Given the description of an element on the screen output the (x, y) to click on. 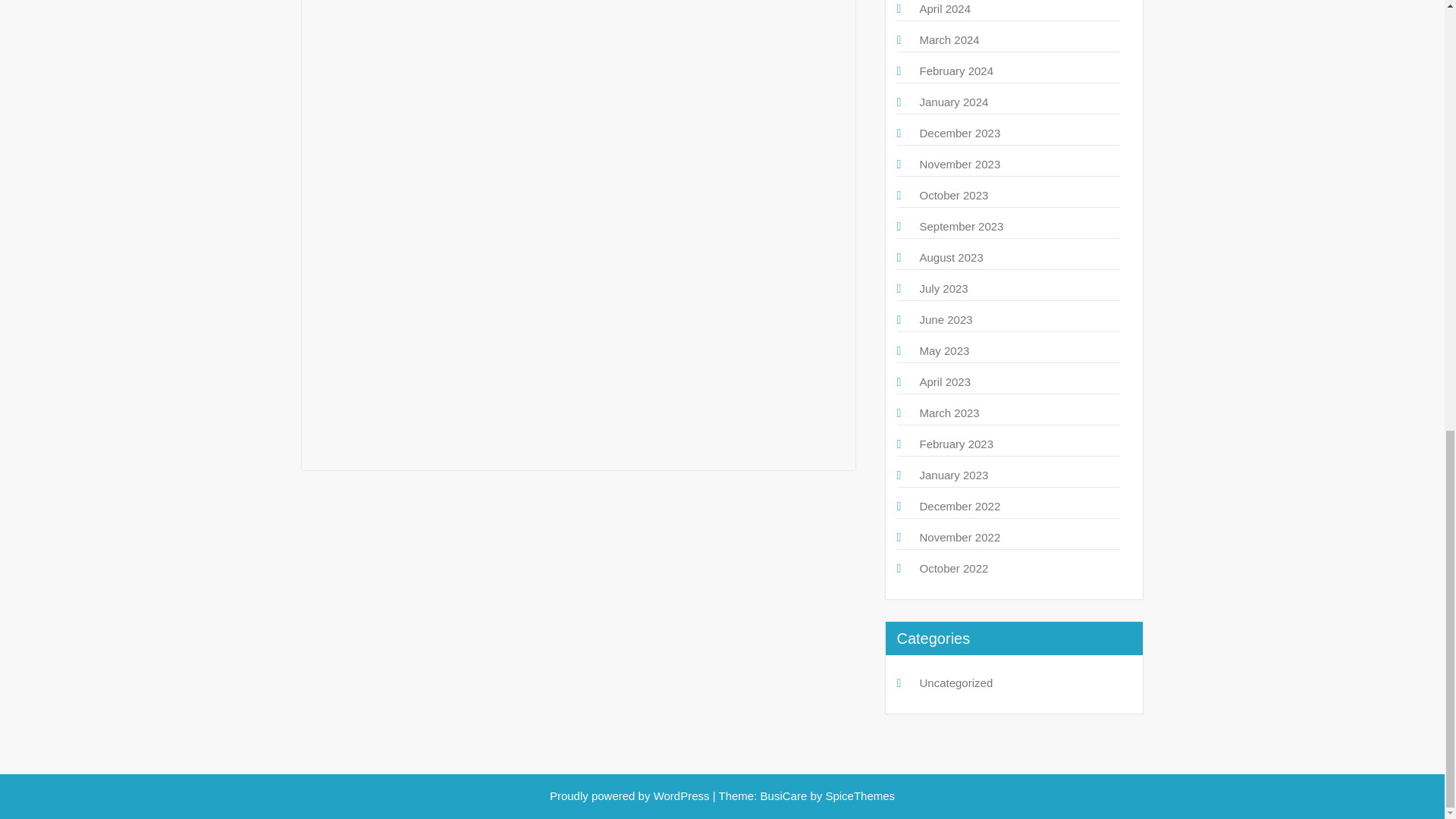
February 2023 (955, 443)
May 2023 (943, 350)
WordPress (681, 795)
August 2023 (950, 256)
October 2022 (953, 567)
November 2023 (959, 164)
September 2023 (960, 226)
Uncategorized (955, 682)
December 2022 (959, 505)
November 2022 (959, 536)
